Given the description of an element on the screen output the (x, y) to click on. 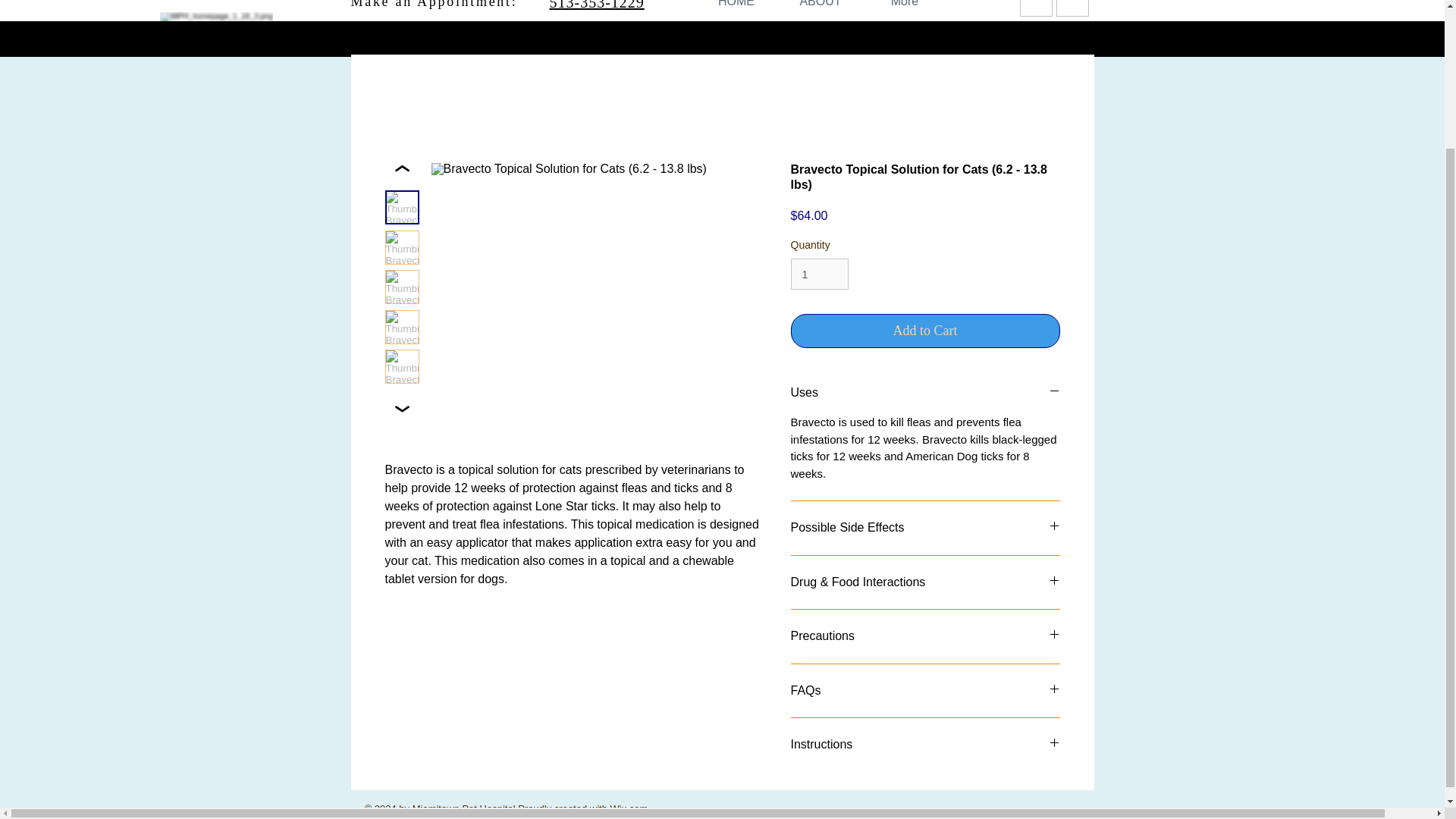
Uses (924, 392)
Wix.com (628, 808)
Add to Cart (924, 330)
513-353-1229 (595, 5)
HOME (736, 12)
Precautions (924, 636)
1 (818, 273)
Instructions (924, 744)
Possible Side Effects (924, 527)
FAQs (924, 690)
